Given the description of an element on the screen output the (x, y) to click on. 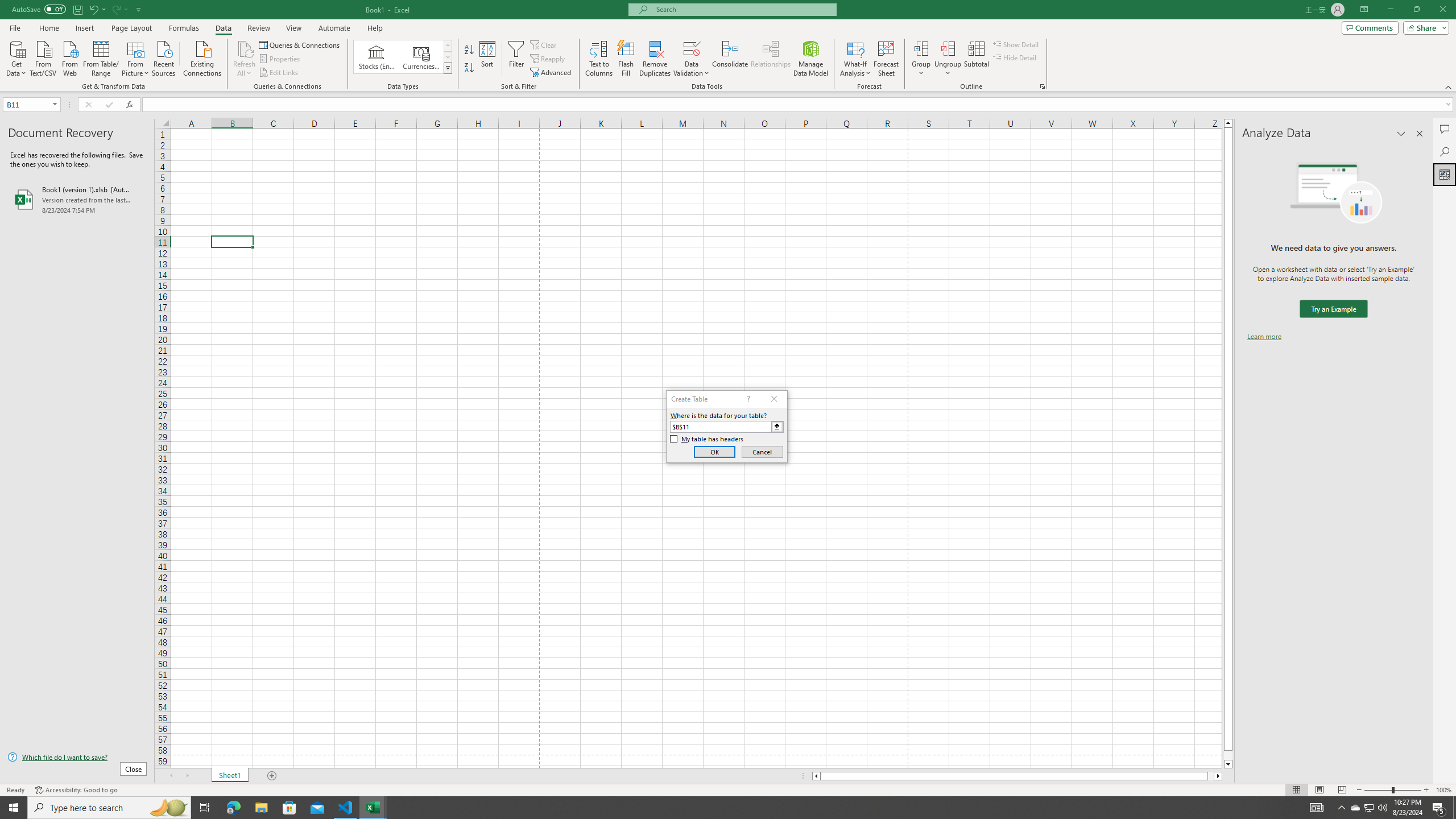
Group... (921, 48)
Show Detail (1016, 44)
From Picture (135, 57)
AutoSave (38, 9)
Edit Links (279, 72)
Data (223, 28)
What-If Analysis (855, 58)
Data Validation... (691, 58)
Page Break Preview (1342, 790)
Zoom In (1426, 790)
Formulas (184, 28)
